Given the description of an element on the screen output the (x, y) to click on. 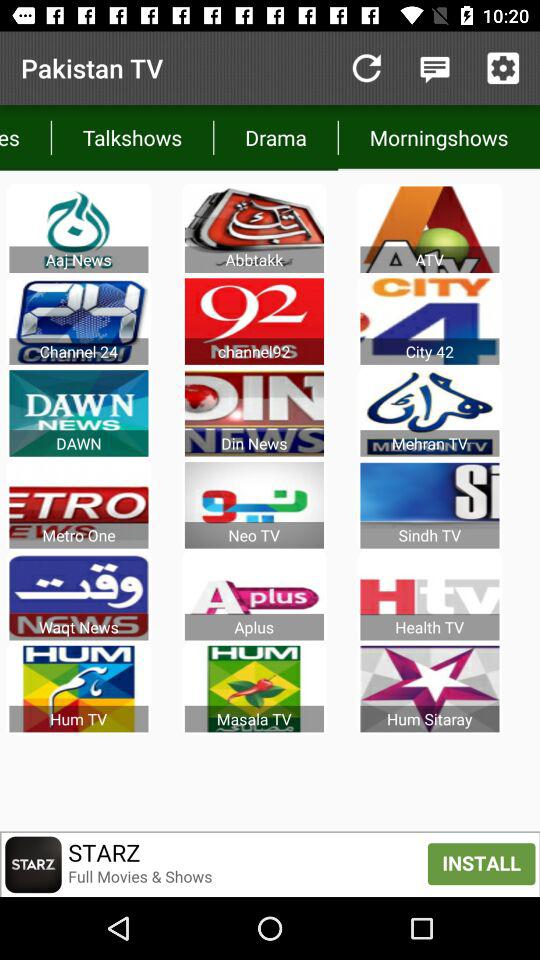
refresh (366, 67)
